Given the description of an element on the screen output the (x, y) to click on. 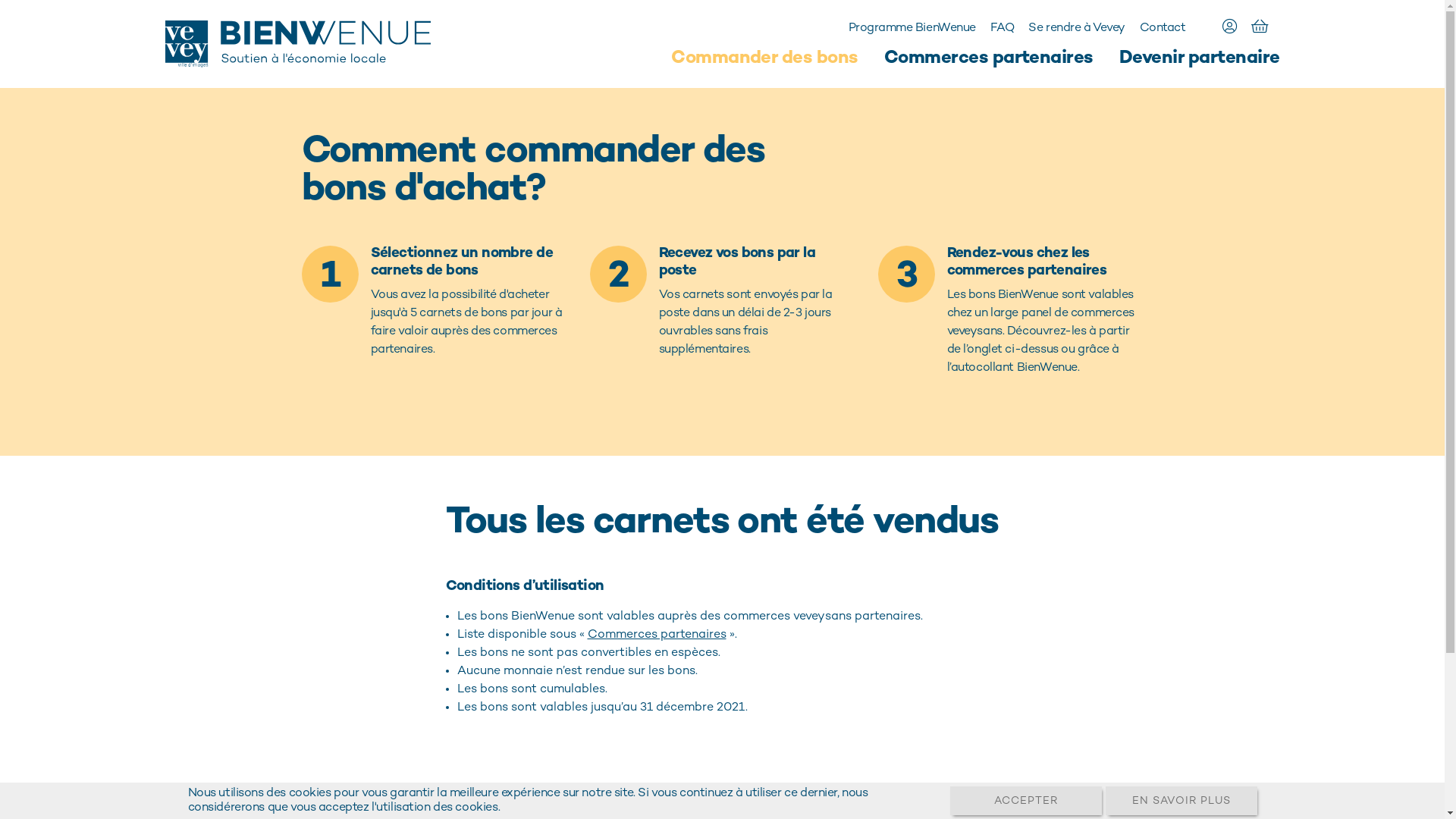
Programme BienWenue Element type: text (911, 27)
EN SAVOIR PLUS Element type: text (1181, 800)
FAQ Element type: text (1002, 27)
ACCEPTER Element type: text (1025, 800)
Contact Element type: text (1162, 27)
Commerces partenaires Element type: text (988, 58)
Devenir partenaire Element type: text (1199, 58)
Commander des bons Element type: text (764, 58)
Commerces partenaires Element type: text (655, 634)
